Given the description of an element on the screen output the (x, y) to click on. 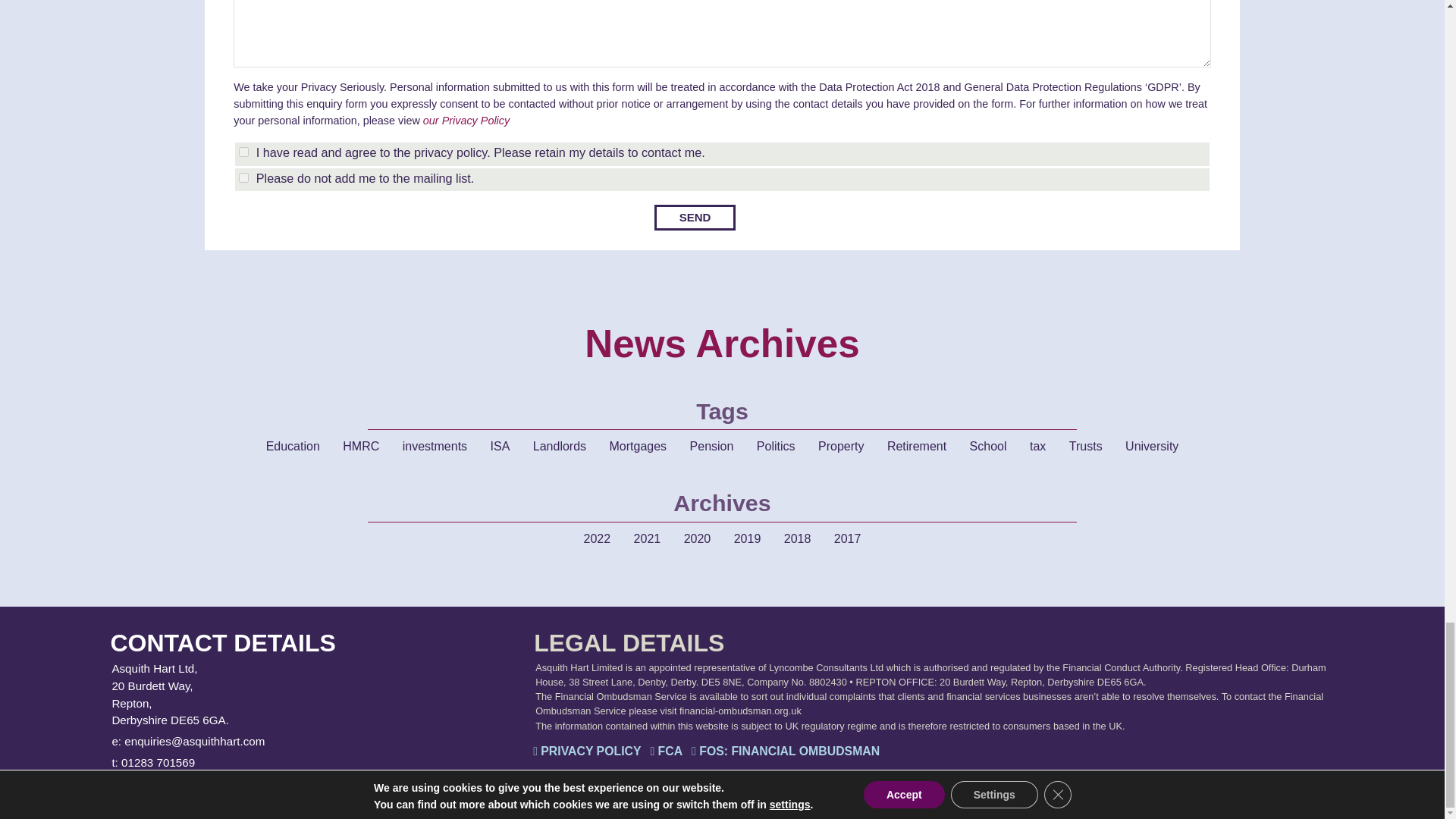
Mortgages (638, 446)
HMRC (360, 446)
Property (840, 446)
FCA (665, 751)
investments (434, 446)
2022 (597, 538)
ISA (500, 446)
2018 (797, 538)
Pension (711, 446)
FOS: FINANCIAL OMBUDSMAN (785, 751)
Send (694, 217)
2017 (847, 538)
Trusts (1085, 446)
Retirement (916, 446)
tax (1037, 446)
